Given the description of an element on the screen output the (x, y) to click on. 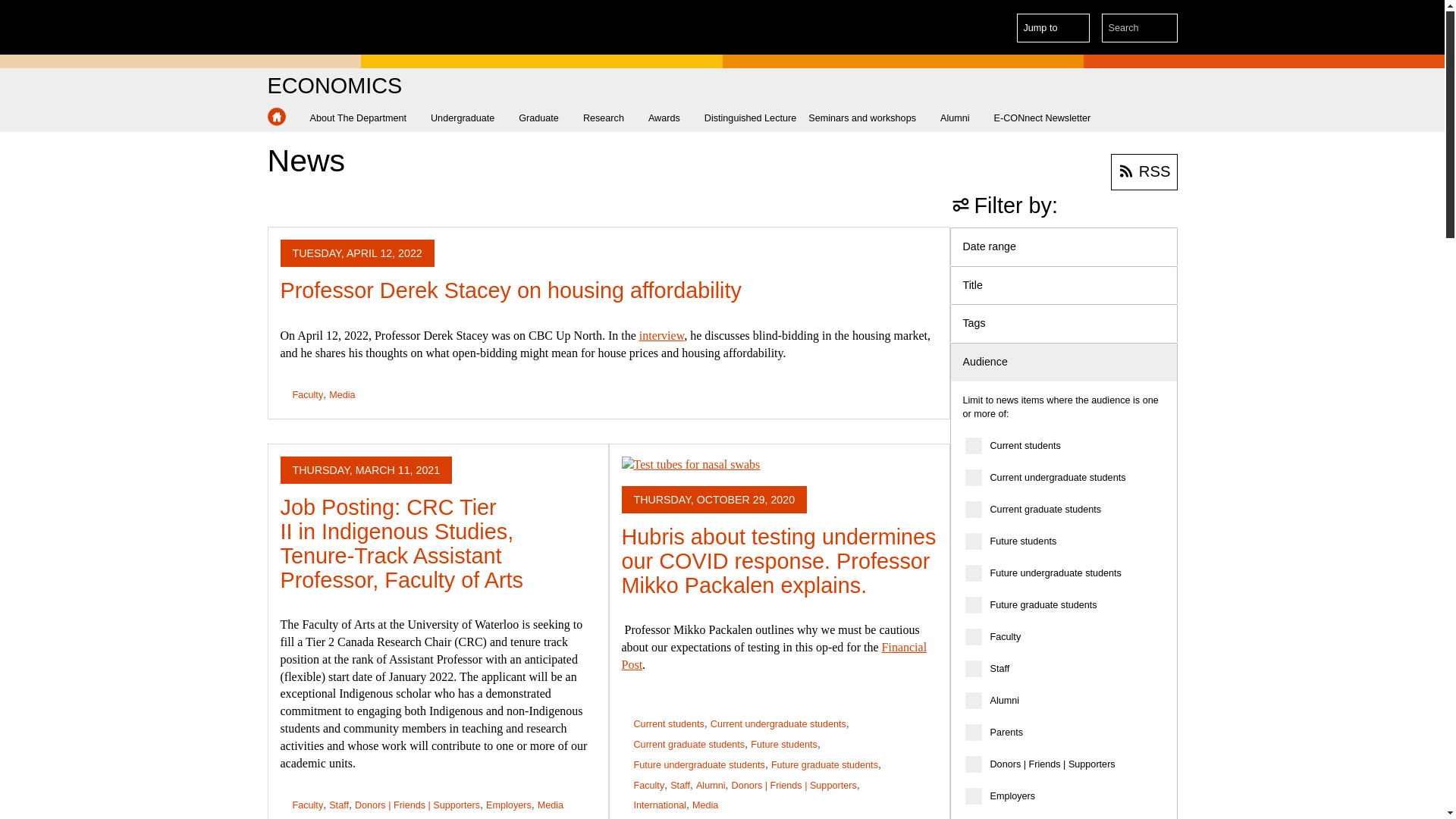
Search (1163, 27)
Economics Home (275, 116)
Undergraduate (468, 117)
ECONOMICS (333, 85)
Economics Home (333, 85)
University of Waterloo Home (331, 27)
Search (1163, 27)
Graduate (544, 117)
Jump to (1053, 27)
About The Department (363, 117)
